Given the description of an element on the screen output the (x, y) to click on. 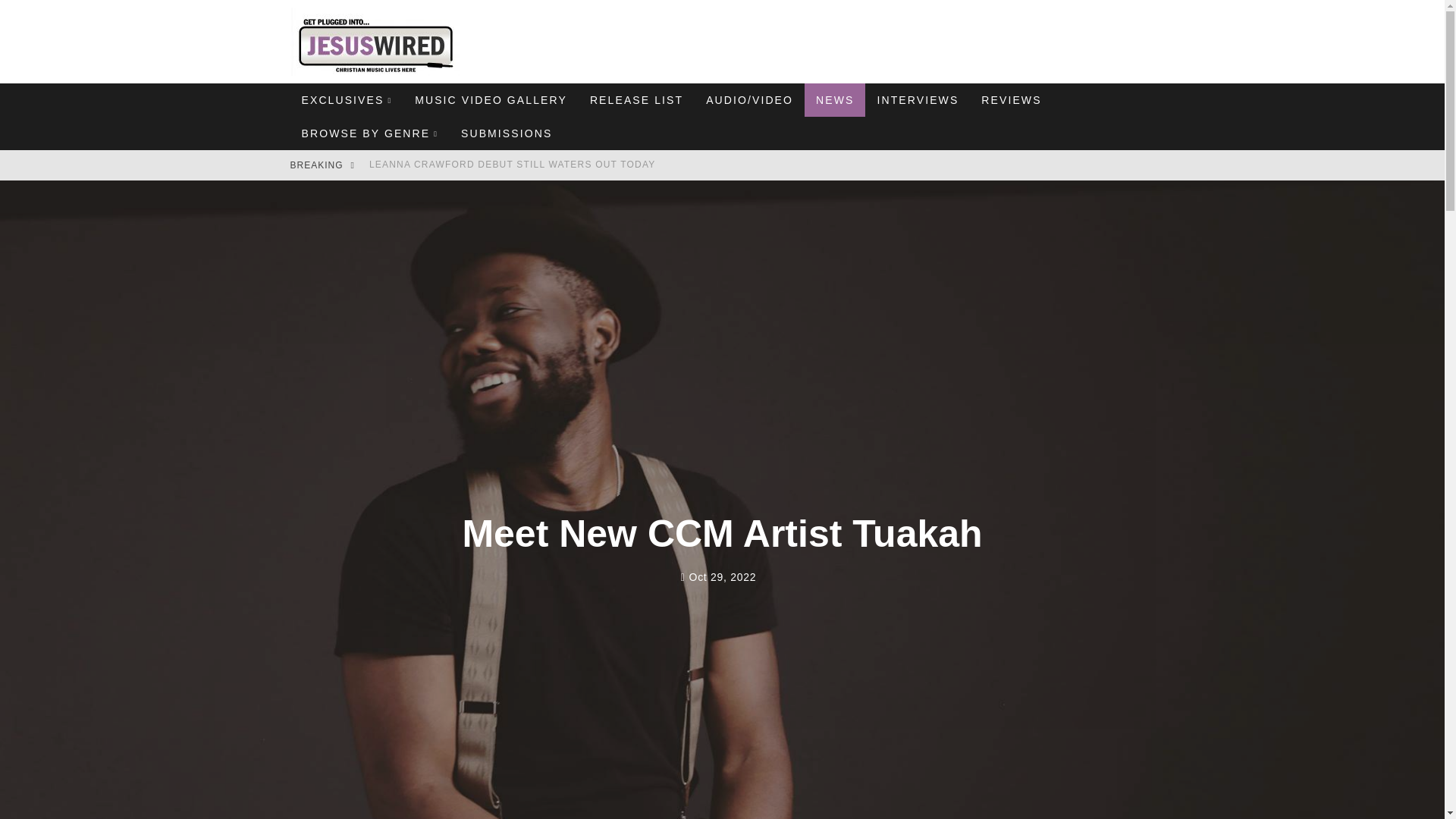
EXCLUSIVES (346, 100)
RELEASE LIST (636, 100)
Leanna Crawford debut Still Waters out today (512, 163)
MUSIC VIDEO GALLERY (490, 100)
